Given the description of an element on the screen output the (x, y) to click on. 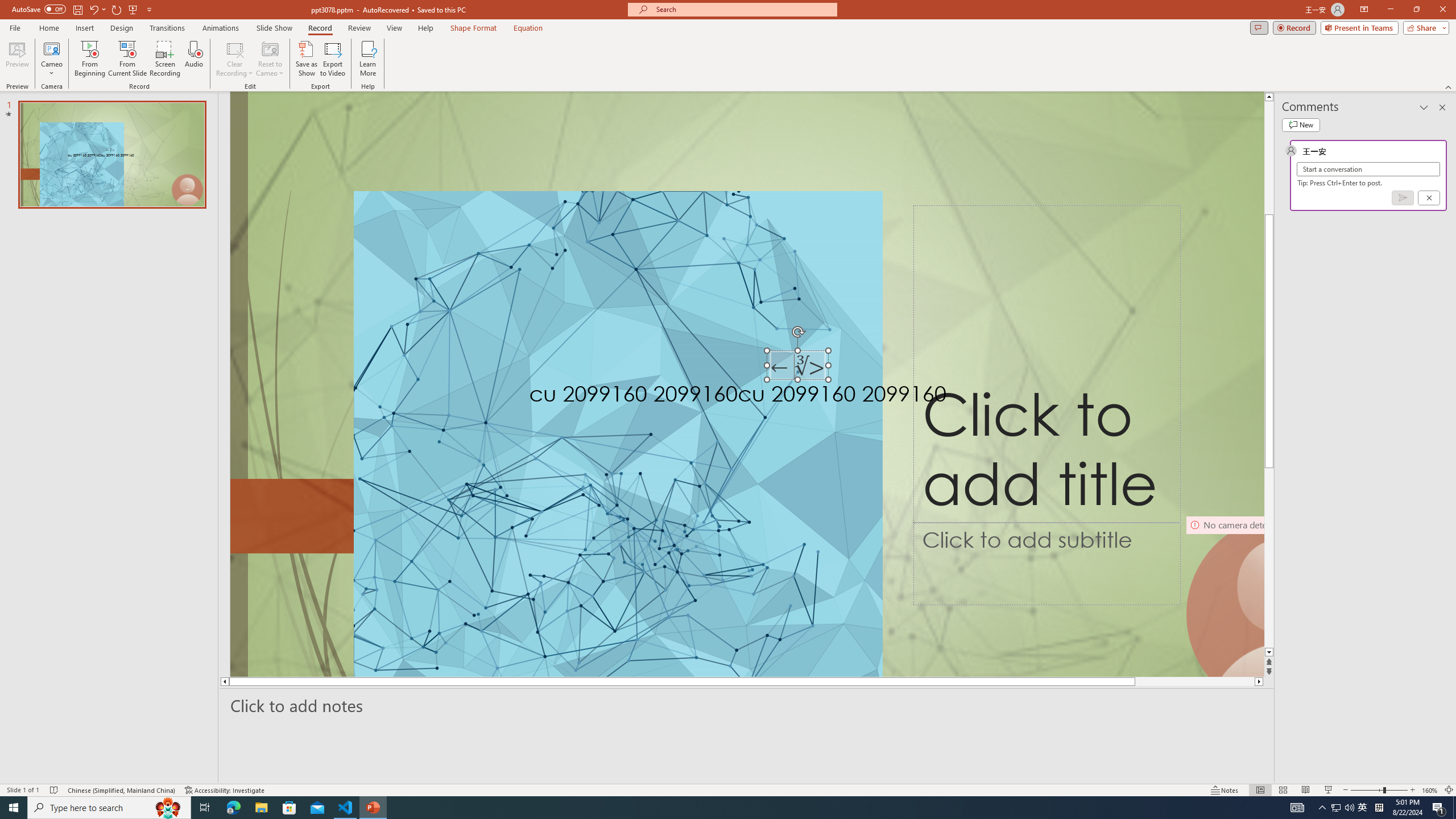
Shape Format (473, 28)
Save as Show (306, 58)
Preview (17, 58)
New comment (1300, 124)
TextBox 61 (807, 396)
Page down (1268, 535)
TextBox 7 (797, 367)
Equation (528, 28)
Title TextBox (1046, 364)
